Given the description of an element on the screen output the (x, y) to click on. 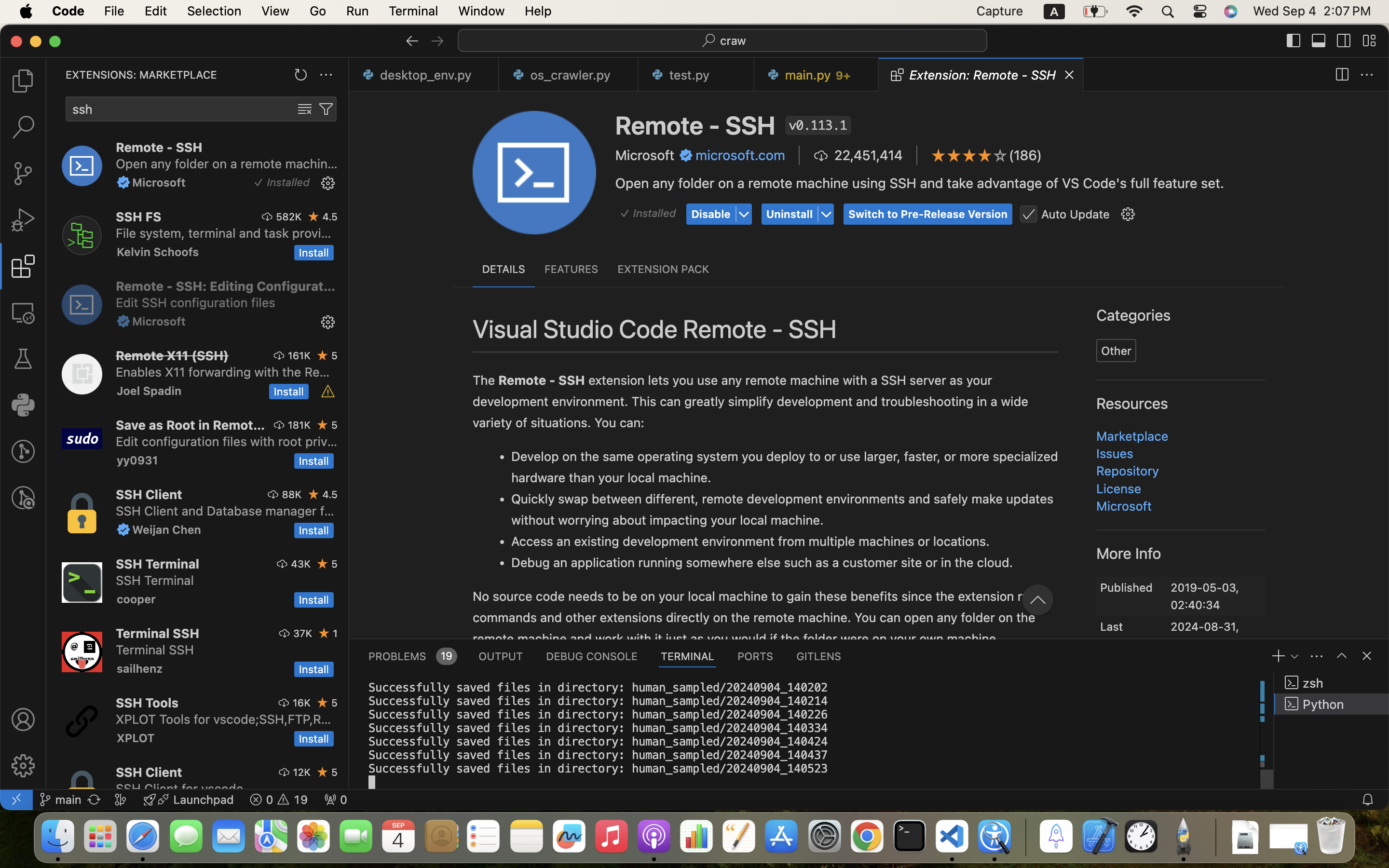
File system, terminal and task provider using SSH Element type: AXStaticText (223, 232)
sailhenz Element type: AXStaticText (139, 668)
Other Element type: AXGroup (1116, 350)
 Element type: AXStaticText (325, 108)
microsoft.com Element type: AXStaticText (740, 154)
